Given the description of an element on the screen output the (x, y) to click on. 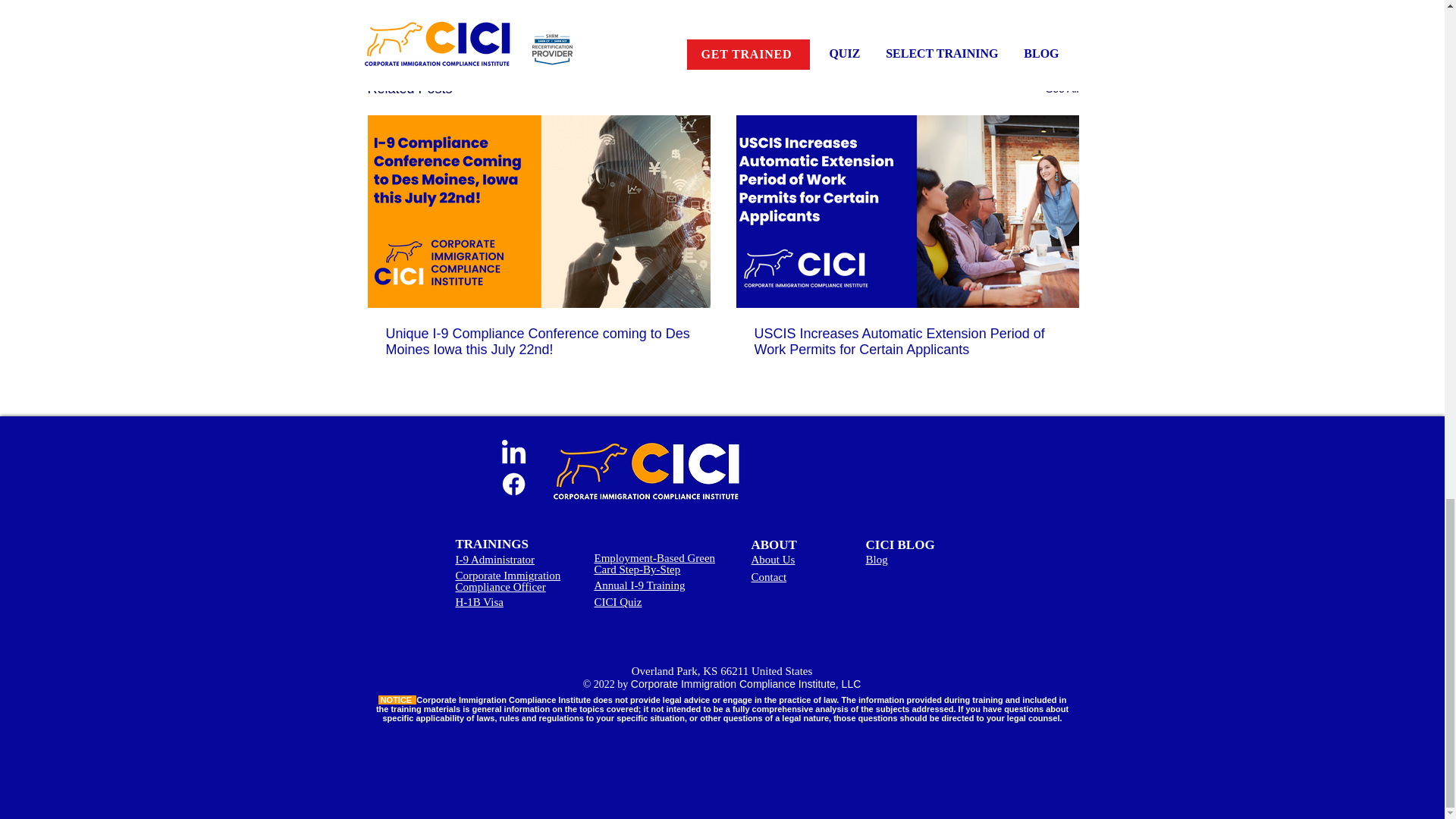
See All (1061, 88)
Employment-Based Green Card Step-By-Step (655, 563)
Blog (877, 559)
H-1B Visa (478, 602)
Annual I-9 Training (639, 585)
CICI Quiz (618, 602)
I-9 Administrator (494, 559)
Contact (768, 576)
